Given the description of an element on the screen output the (x, y) to click on. 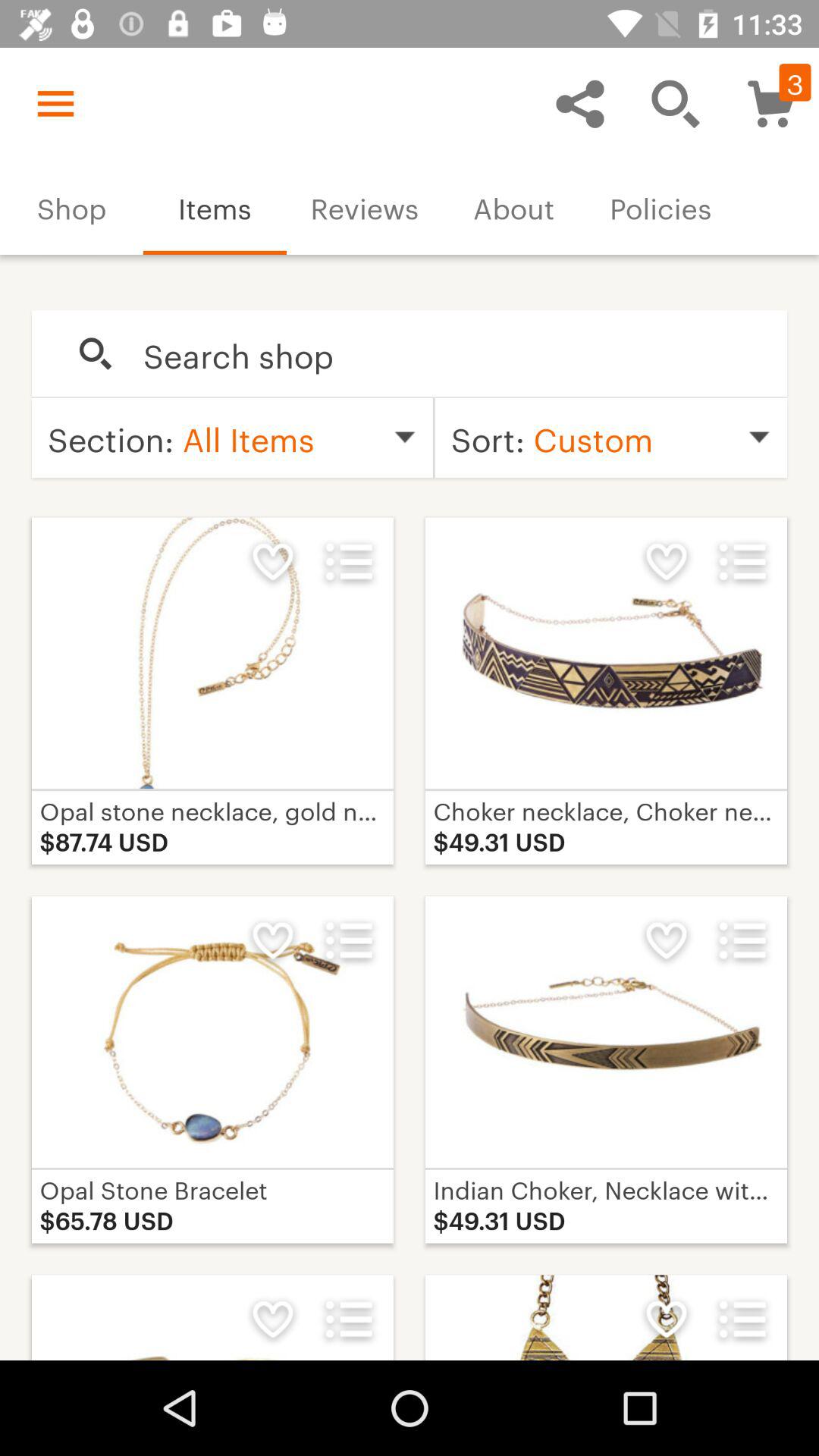
search the items that you want (449, 354)
